Given the description of an element on the screen output the (x, y) to click on. 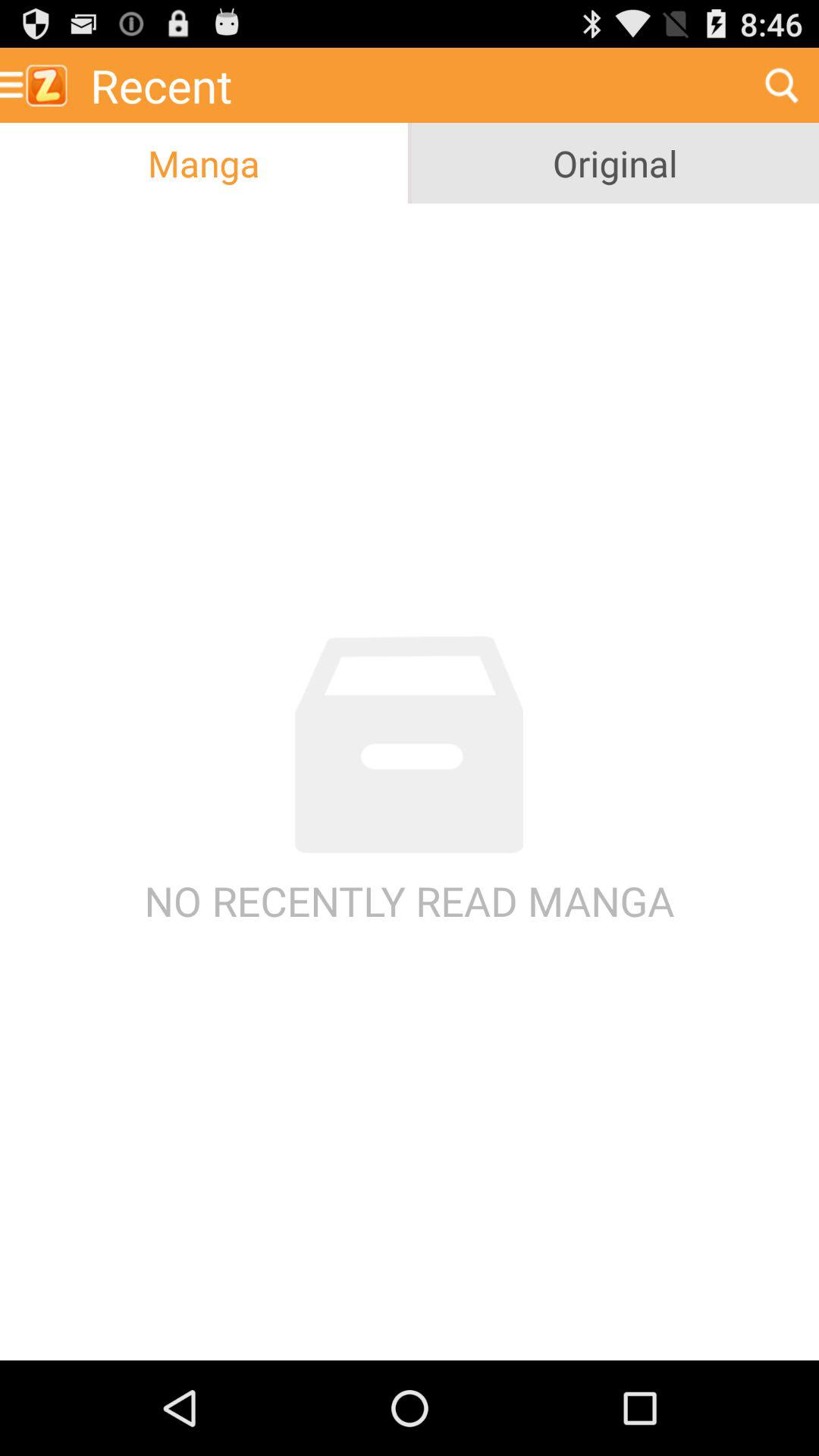
tap the item above the manga (411, 85)
